Given the description of an element on the screen output the (x, y) to click on. 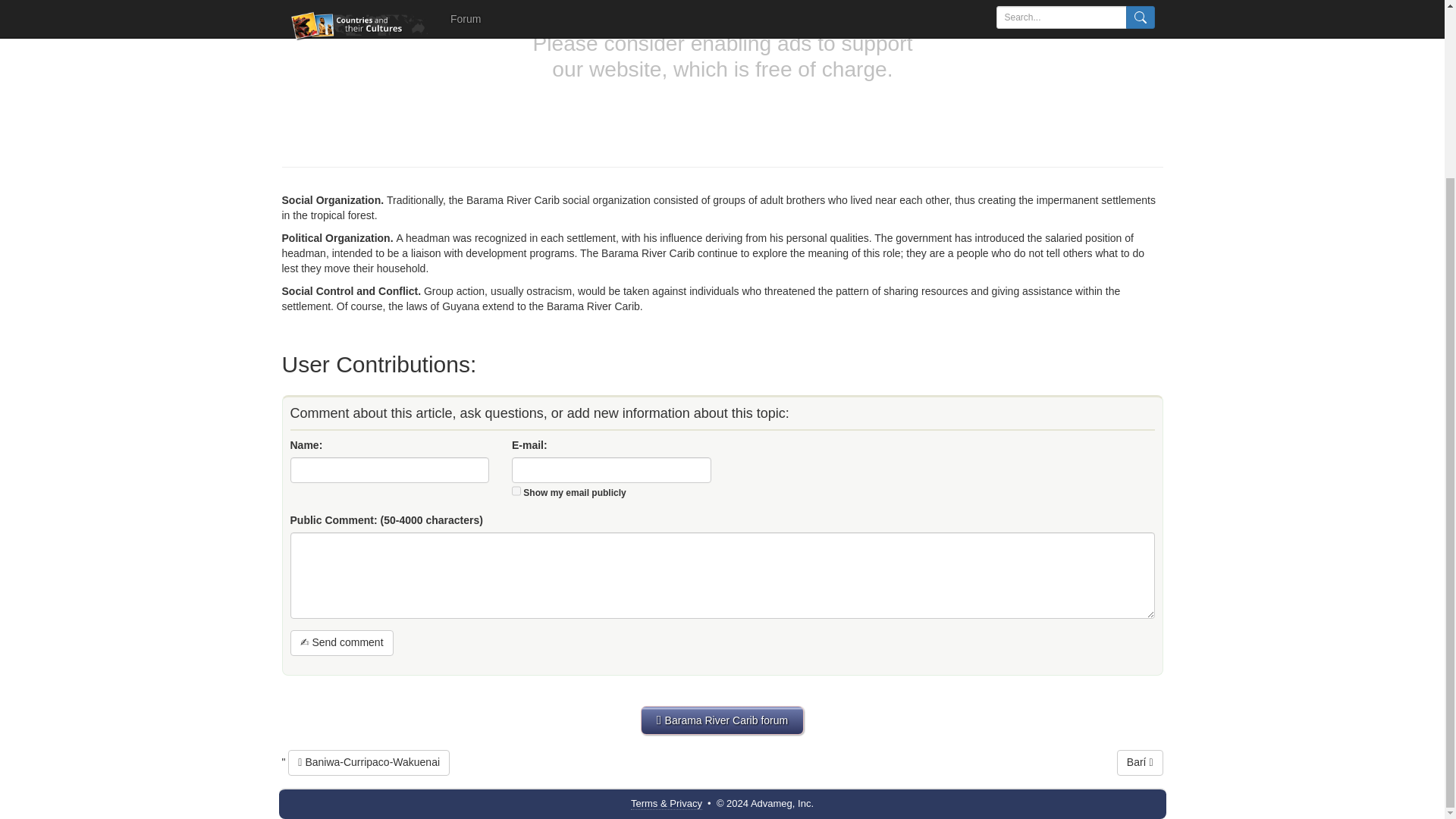
Barama River Carib forum (721, 719)
1 (516, 491)
Baniwa-Curripaco-Wakuenai (368, 762)
Advertisement (722, 75)
